Given the description of an element on the screen output the (x, y) to click on. 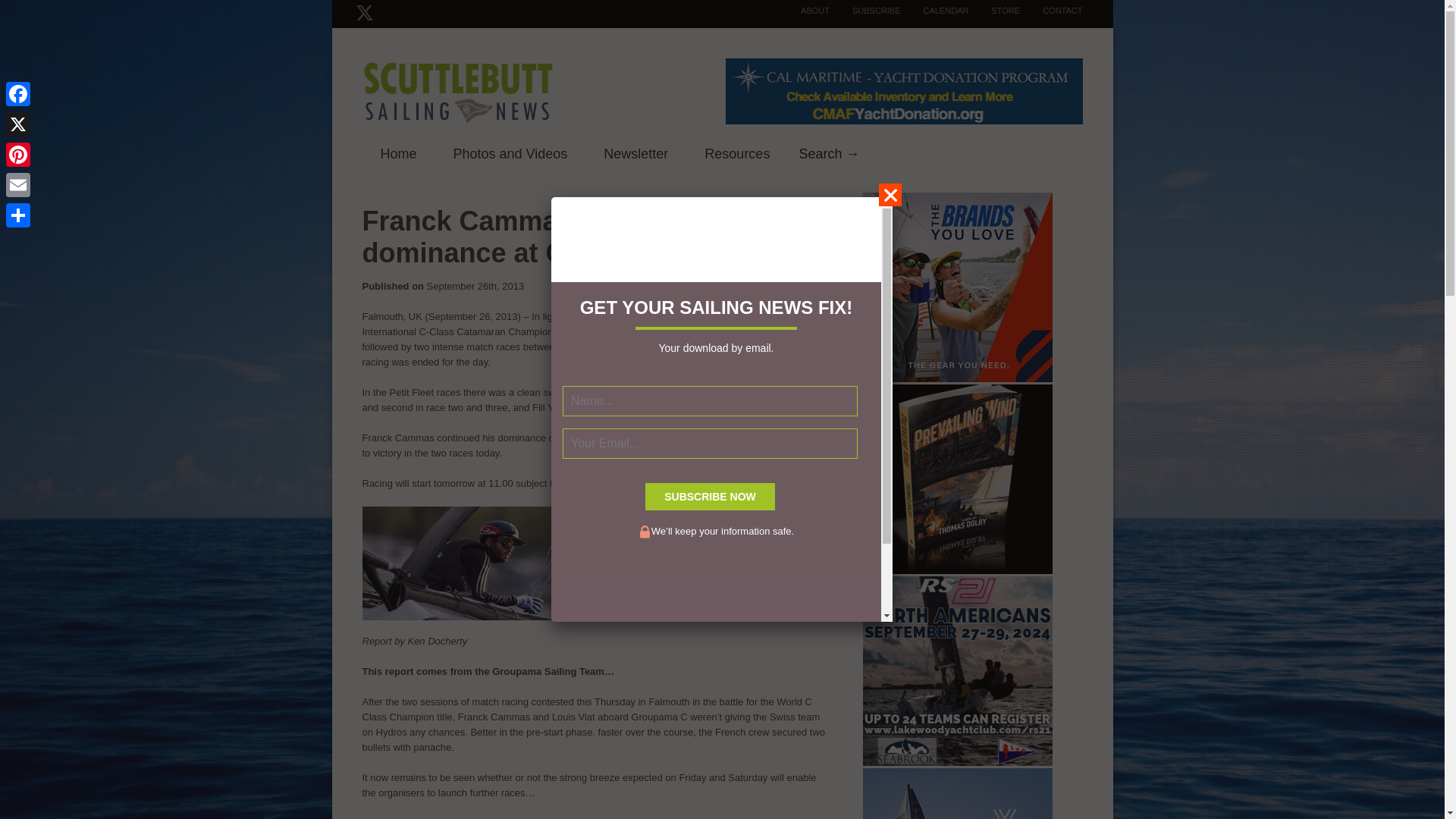
Photos and Videos (510, 154)
Resources (736, 154)
Newsletter (635, 154)
CALENDAR (935, 10)
Subscribe NOW (709, 496)
SUBSCRIBE (865, 10)
STORE (994, 10)
CONTACT (1050, 10)
Home (398, 154)
ABOUT (803, 10)
